Given the description of an element on the screen output the (x, y) to click on. 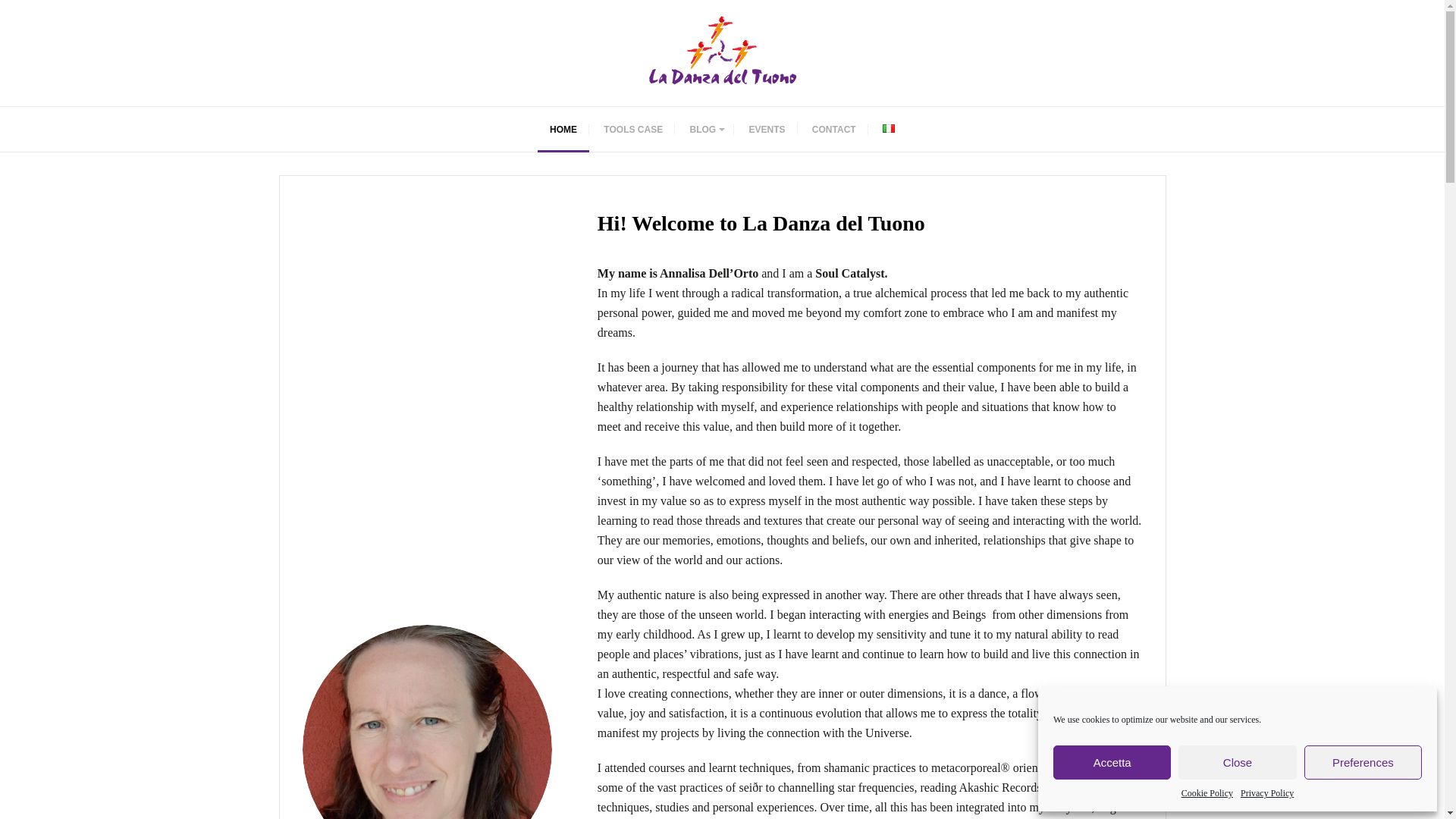
Close (1236, 762)
BLOG (705, 129)
Cookie Policy (1206, 793)
CONTACT (833, 129)
Accetta (1111, 762)
TOOLS CASE (633, 129)
EVENTS (766, 129)
Preferences (1363, 762)
HOME (563, 129)
Privacy Policy (1267, 793)
